Given the description of an element on the screen output the (x, y) to click on. 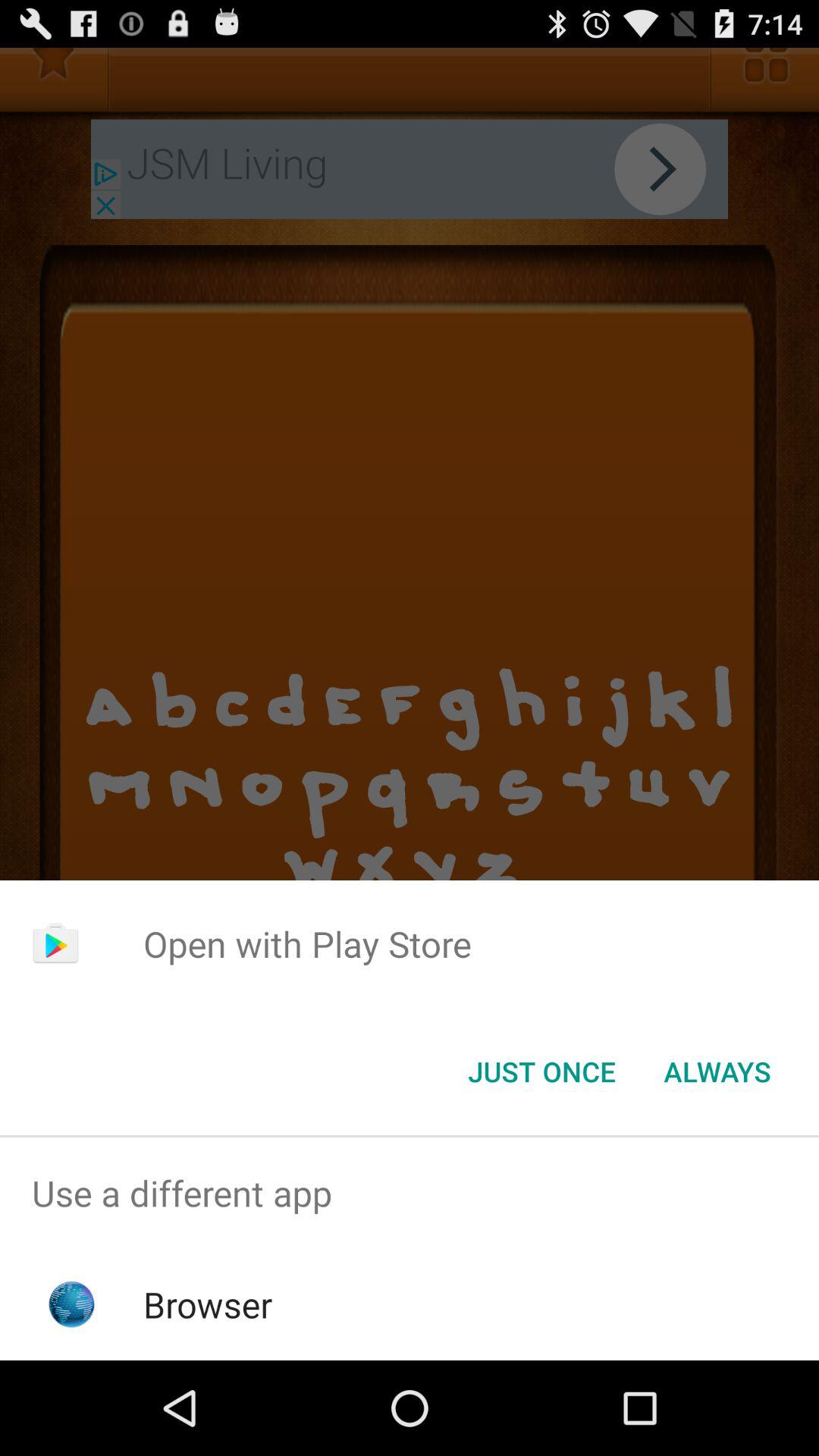
turn on icon below open with play (541, 1071)
